Given the description of an element on the screen output the (x, y) to click on. 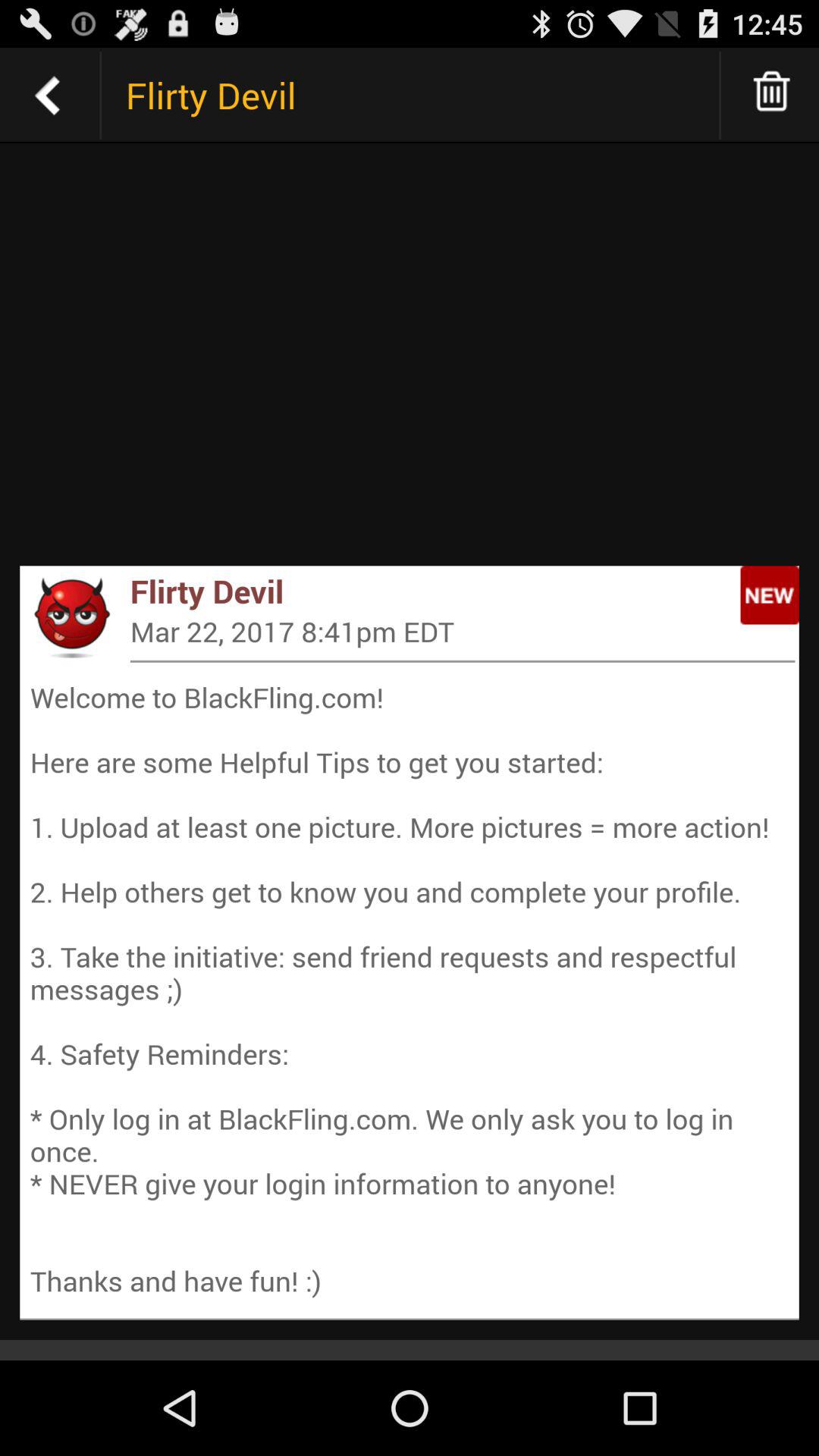
click the icon above welcome to blackfling app (462, 661)
